Given the description of an element on the screen output the (x, y) to click on. 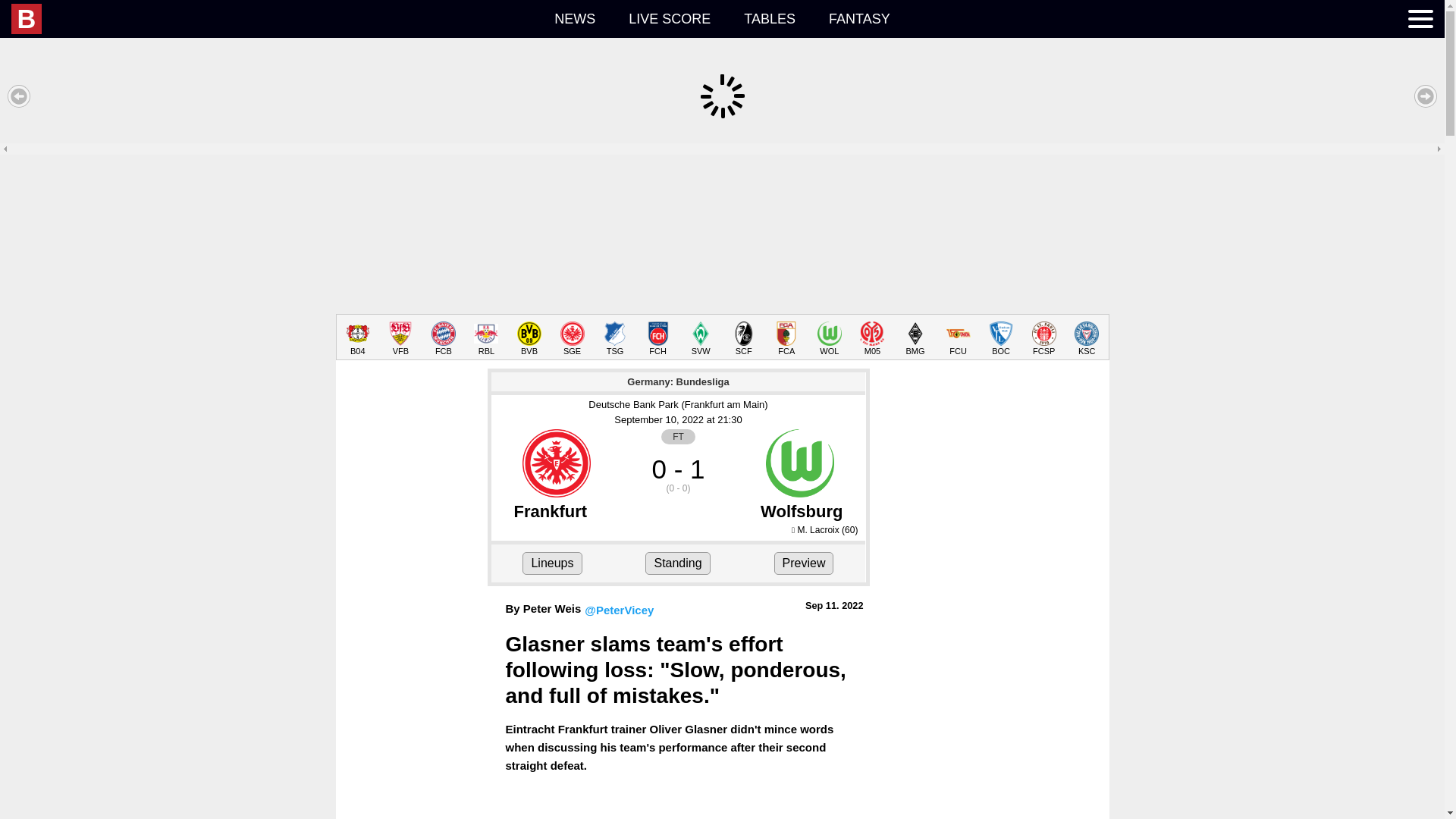
SCF (743, 337)
TSG Hoffenheim News (615, 337)
BOC (1001, 337)
VFB (400, 337)
M. Lacroix (817, 529)
FCA (786, 337)
B (26, 19)
Dortmund News (529, 337)
B (173, 19)
LIVE SCORE (668, 18)
